Given the description of an element on the screen output the (x, y) to click on. 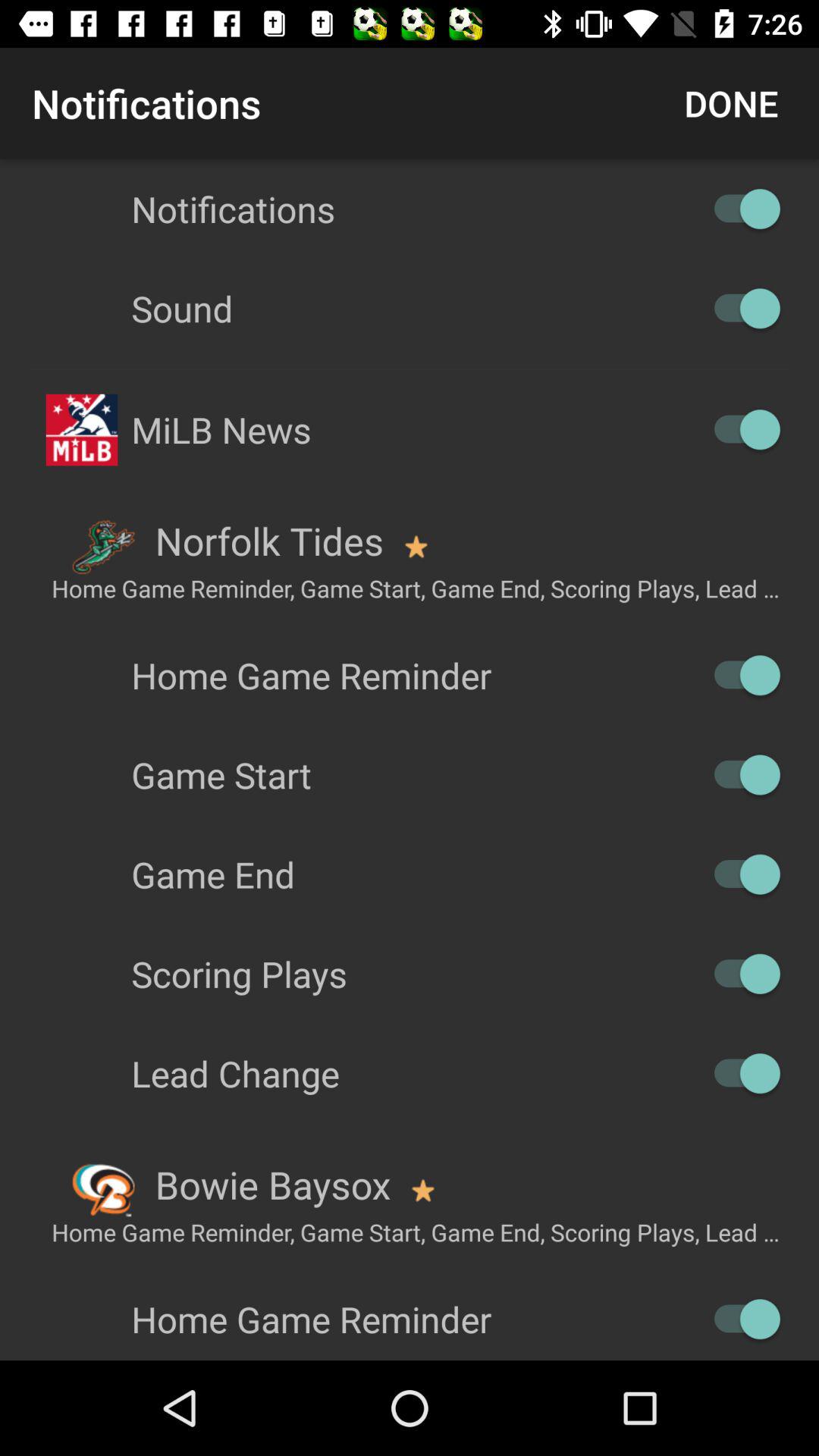
toggle notifications (739, 209)
